Given the description of an element on the screen output the (x, y) to click on. 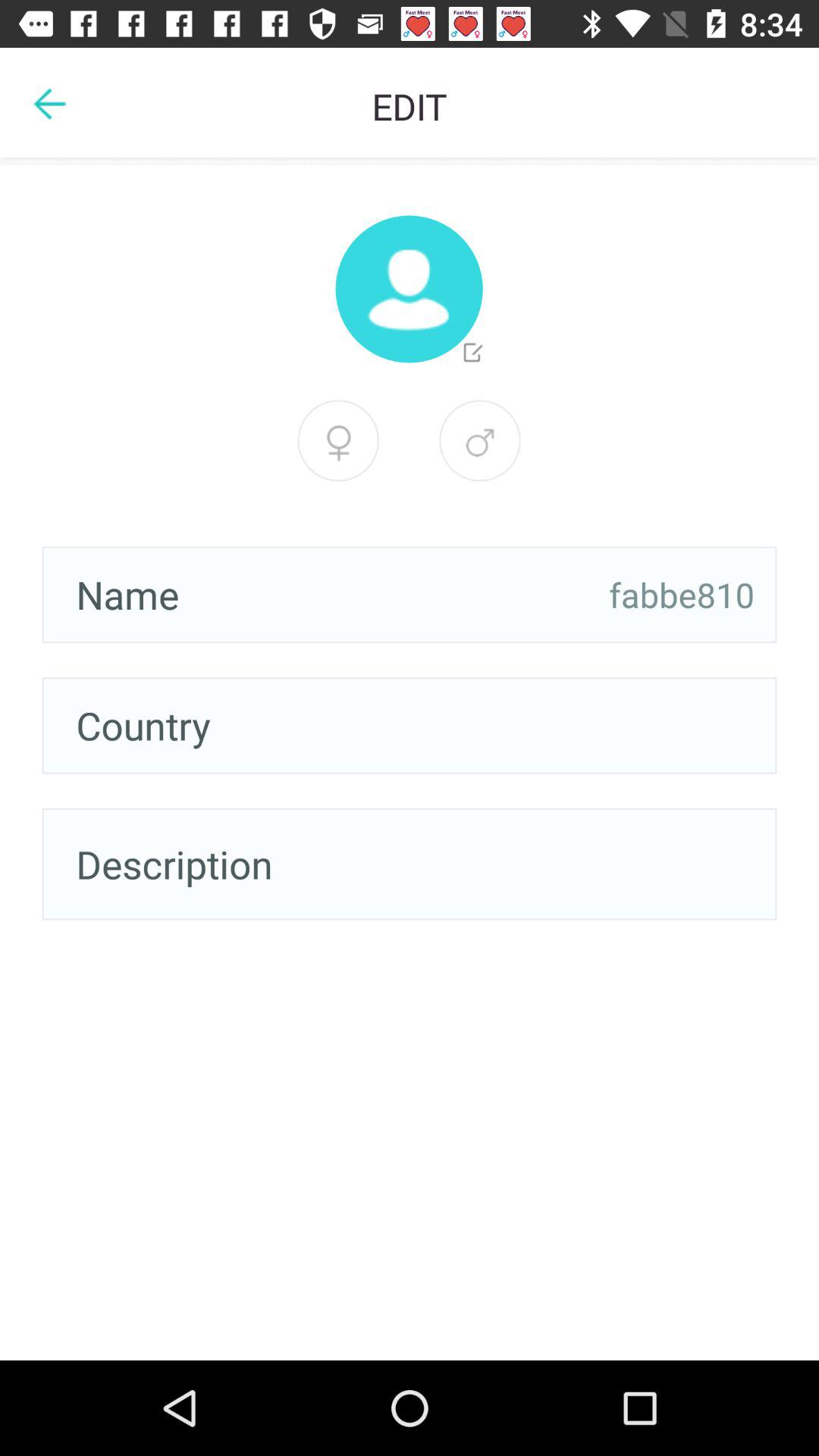
go to account info (408, 288)
